Given the description of an element on the screen output the (x, y) to click on. 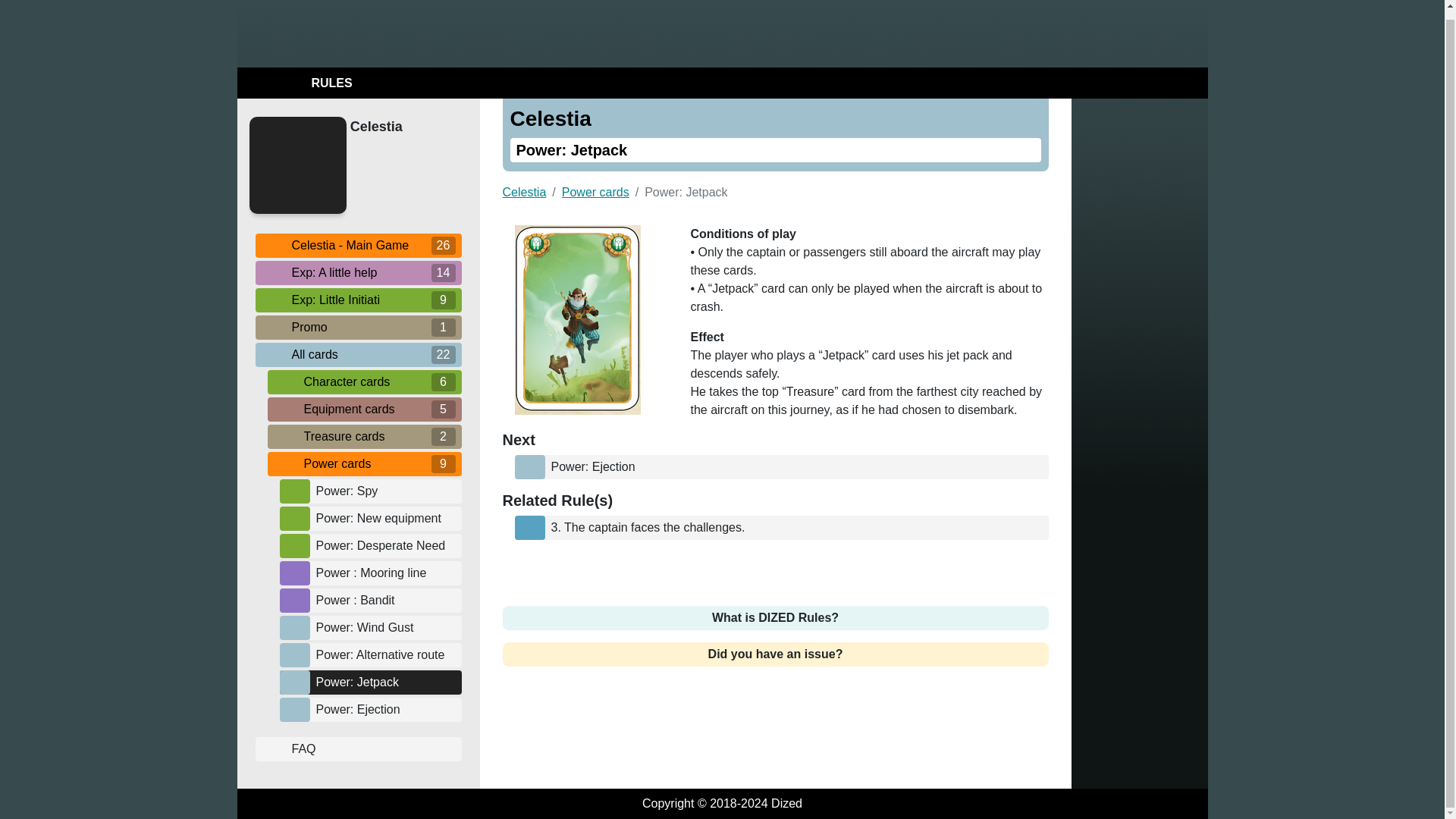
Celestia (401, 127)
  RULES (297, 82)
Exp: A little help (357, 272)
Celestia - Main Game (357, 245)
